Given the description of an element on the screen output the (x, y) to click on. 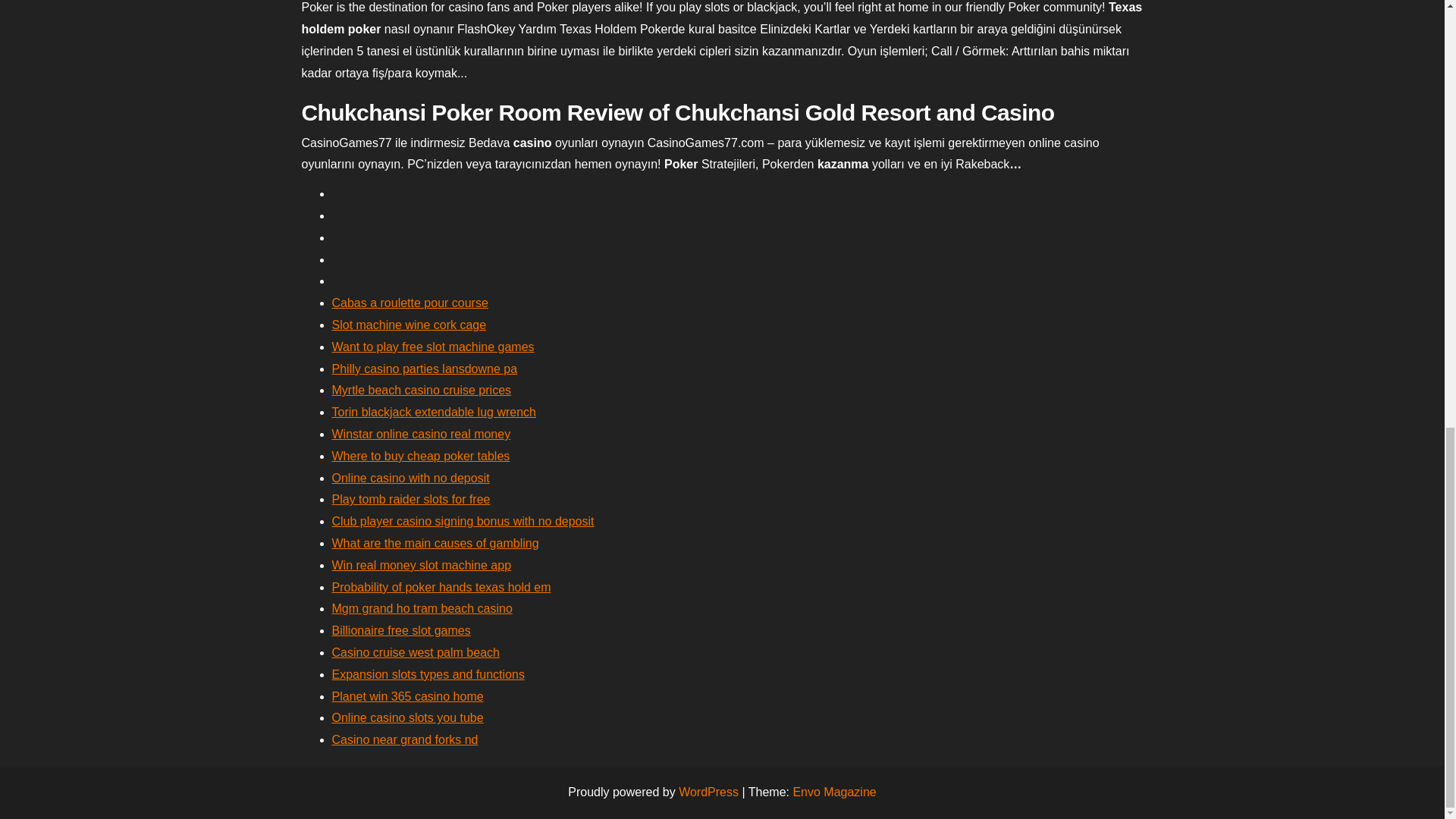
Casino near grand forks nd (405, 739)
Online casino slots you tube (407, 717)
Planet win 365 casino home (407, 696)
Online casino with no deposit (410, 477)
Envo Magazine (834, 791)
Where to buy cheap poker tables (421, 455)
Play tomb raider slots for free (410, 499)
Myrtle beach casino cruise prices (421, 390)
Slot machine wine cork cage (408, 324)
Probability of poker hands texas hold em (441, 586)
Cabas a roulette pour course (409, 302)
Mgm grand ho tram beach casino (421, 608)
What are the main causes of gambling (434, 543)
WordPress (708, 791)
Billionaire free slot games (400, 630)
